Given the description of an element on the screen output the (x, y) to click on. 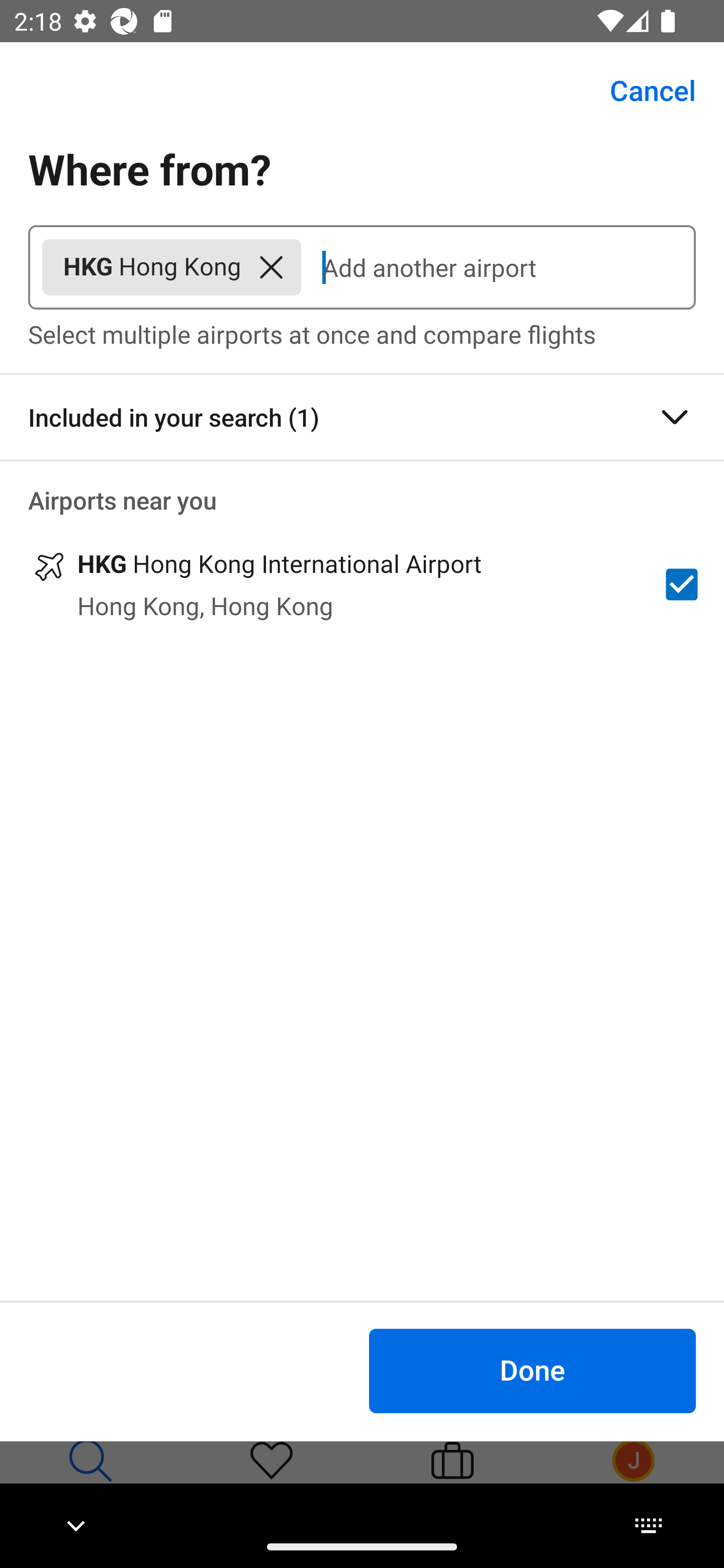
Cancel (641, 90)
Add another airport (498, 266)
HKG Hong Kong Remove HKG Hong Kong (171, 266)
Included in your search (1) (362, 416)
Done (532, 1370)
